Given the description of an element on the screen output the (x, y) to click on. 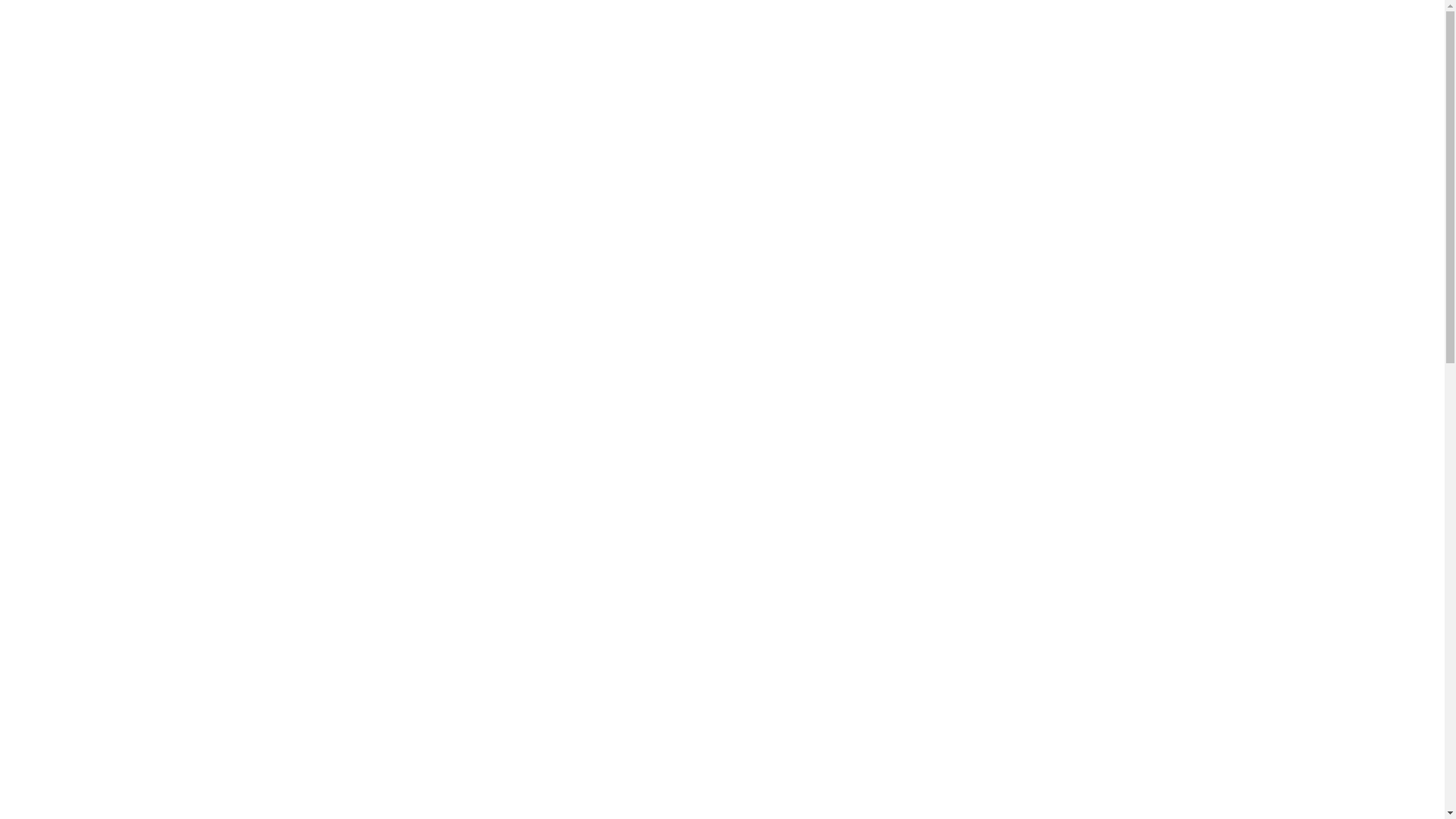
Herbert & Friends Element type: text (103, 33)
Products Element type: text (716, 32)
0 / $0.00 AUD Element type: text (1348, 32)
Shop Now Element type: text (722, 491)
